Given the description of an element on the screen output the (x, y) to click on. 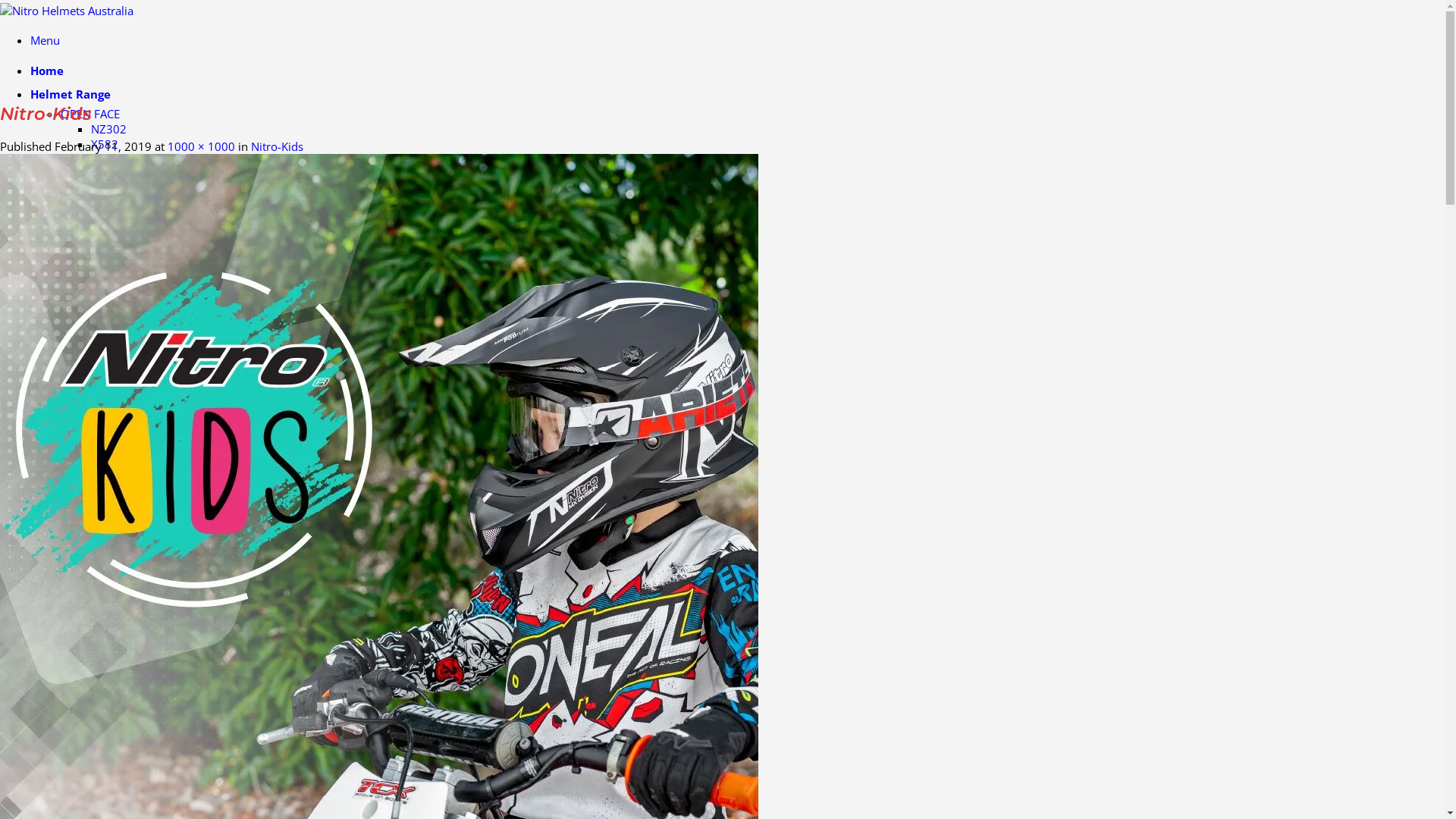
OPEN FACE Element type: text (89, 113)
MODULAR Element type: text (88, 265)
About Element type: text (75, 500)
MX670 Element type: text (109, 310)
NZ302 Element type: text (108, 128)
GOGGLES Element type: text (117, 462)
KIDS OFF ROAD Element type: text (132, 431)
Helmet Range Element type: text (70, 93)
OFF ROAD Element type: text (88, 340)
Menu Element type: text (44, 39)
F350 Element type: text (104, 280)
Find a Store Element type: text (61, 682)
N802 Element type: text (105, 249)
N2600 Element type: text (108, 234)
Company Element type: text (57, 481)
FAQs Element type: text (73, 531)
KIDS ROAD Element type: text (120, 416)
N2400 YOUTH Element type: text (129, 204)
Nitro Helmets Australia - Nitro Helmets Australia Element type: hover (67, 10)
Home Element type: text (46, 70)
MX730 Element type: text (109, 325)
BUY ONLINE Element type: text (63, 652)
History Element type: text (79, 516)
NITRO KIDS Element type: text (90, 401)
ADVENTURE Element type: text (92, 295)
MX700 Element type: text (109, 386)
X582 Element type: text (104, 143)
Nitro-Kids Element type: text (277, 145)
Search Element type: text (66, 629)
FULL FACE Element type: text (88, 174)
MX760 Element type: text (109, 371)
X584 Element type: text (104, 158)
CATALOGUE Element type: text (63, 565)
ACCESSORIES Element type: text (95, 447)
MX780 Element type: text (109, 356)
N501 Element type: text (105, 189)
N2400 Element type: text (108, 219)
Contact Element type: text (52, 588)
Warranty & Support Element type: text (112, 546)
